Given the description of an element on the screen output the (x, y) to click on. 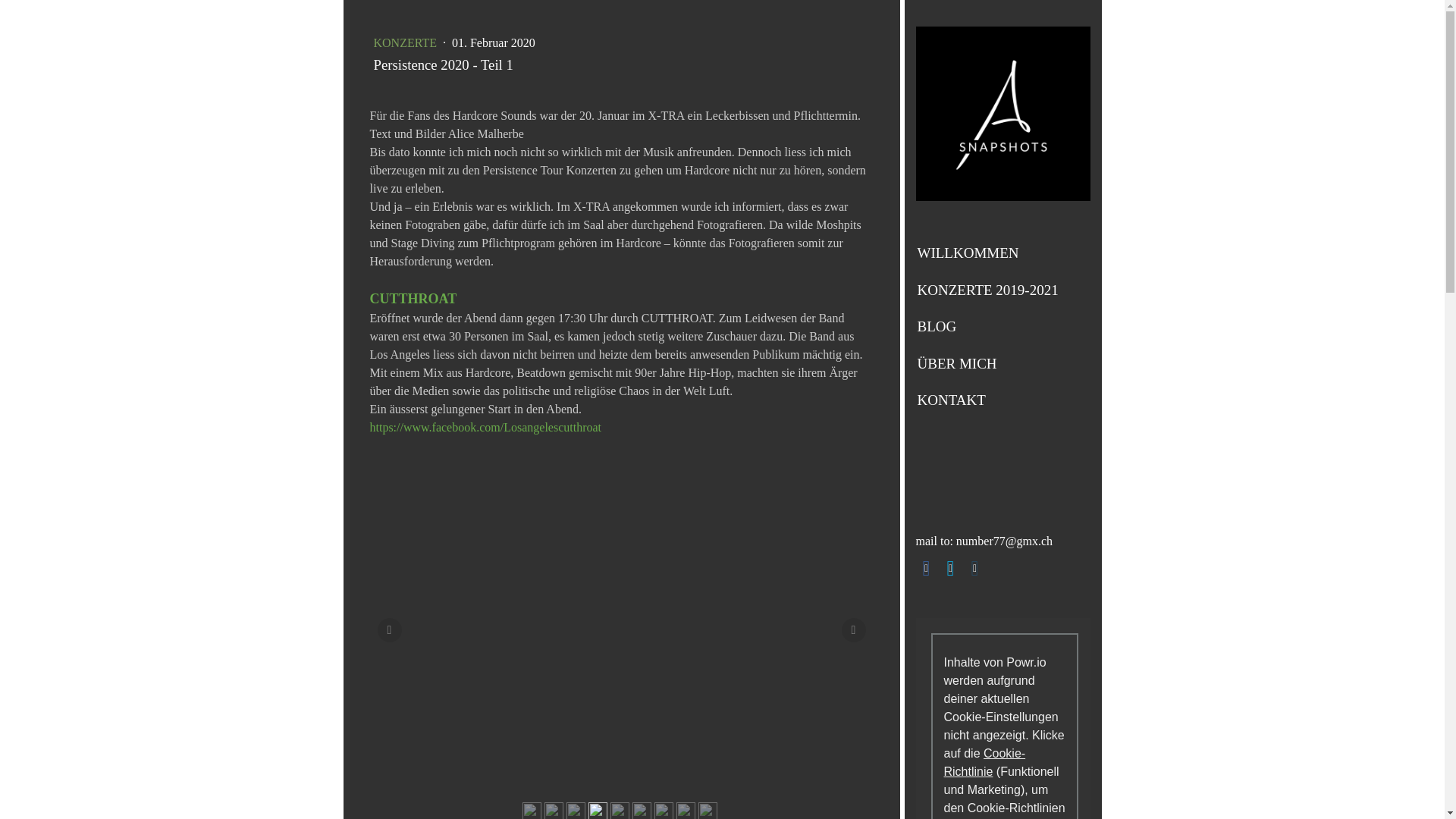
Twitter Element type: hover (950, 568)
KONZERTE 2019-2021 Element type: text (1002, 289)
Facebook Element type: hover (926, 568)
BLOG Element type: text (1002, 326)
Cookie-Richtlinie Element type: text (984, 761)
WILLKOMMEN Element type: text (1002, 253)
KONZERTE Element type: text (406, 42)
KONTAKT Element type: text (1002, 400)
E-Mail Element type: hover (974, 568)
https://www.facebook.com/Losangelescutthroat Element type: text (486, 426)
